Given the description of an element on the screen output the (x, y) to click on. 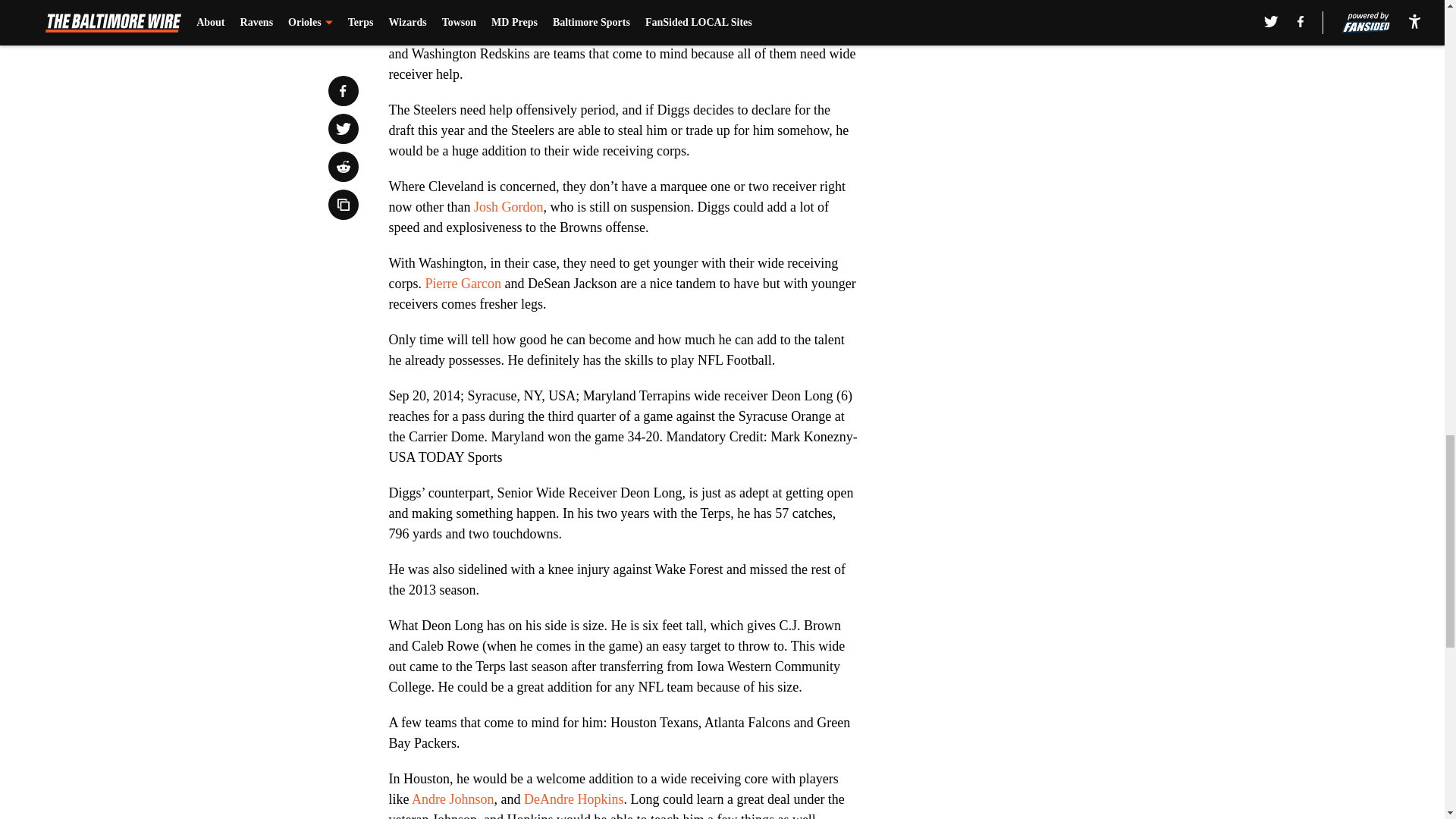
Pierre Garcon (462, 283)
DeAndre Hopkins (573, 798)
Josh Gordon (508, 206)
Andre Johnson (453, 798)
